Given the description of an element on the screen output the (x, y) to click on. 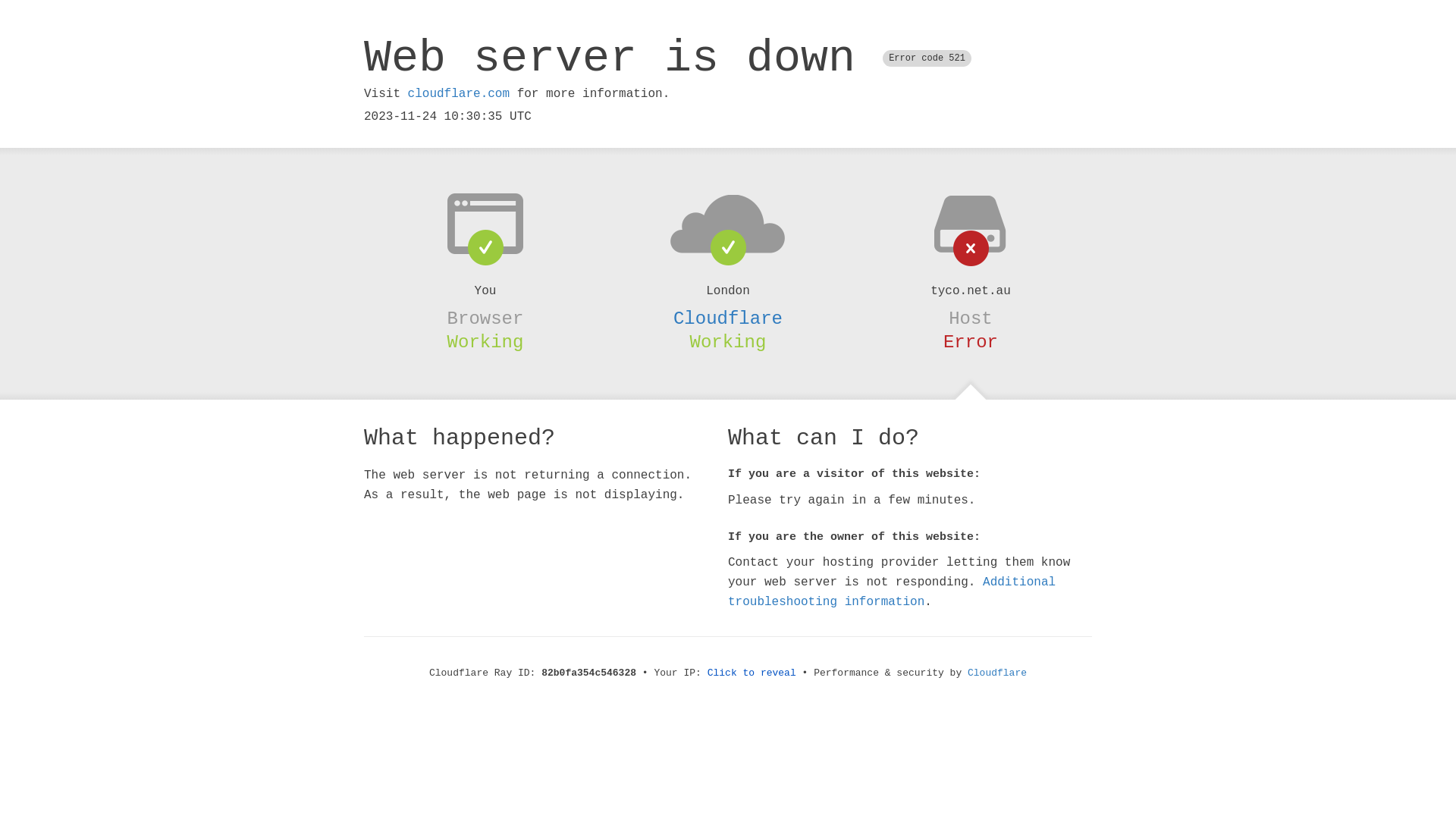
cloudflare.com Element type: text (458, 93)
Click to reveal Element type: text (751, 672)
Additional troubleshooting information Element type: text (891, 591)
Cloudflare Element type: text (996, 672)
Cloudflare Element type: text (727, 318)
